Given the description of an element on the screen output the (x, y) to click on. 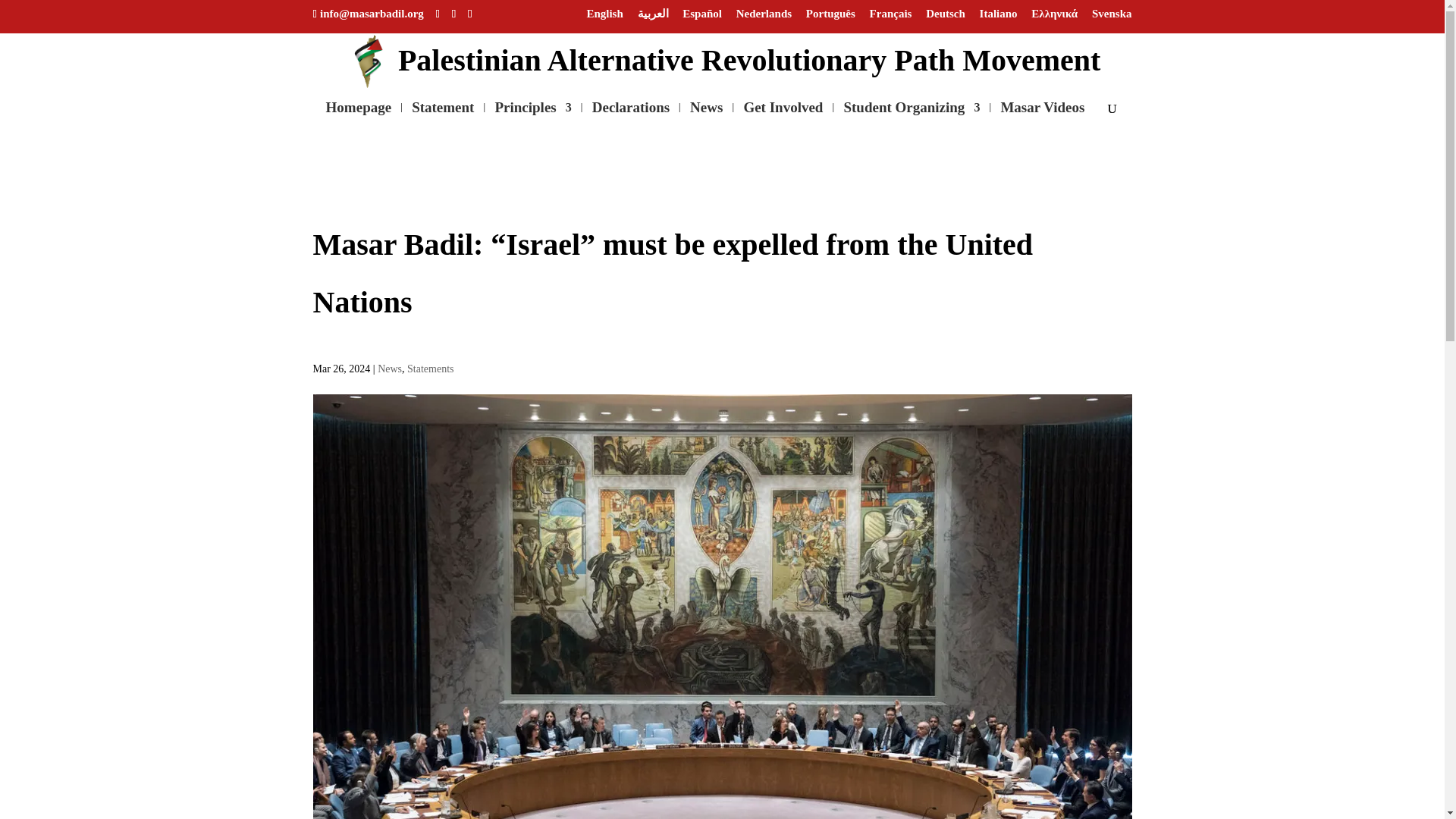
Student Organizing (911, 114)
Italiano (998, 17)
Statement (443, 114)
Palestinian Alternative Revolutionary Path Movement (723, 58)
Principles (532, 114)
Svenska (1112, 17)
Declarations (630, 114)
News (706, 114)
Masar Videos (1042, 114)
Nederlands (764, 17)
